Given the description of an element on the screen output the (x, y) to click on. 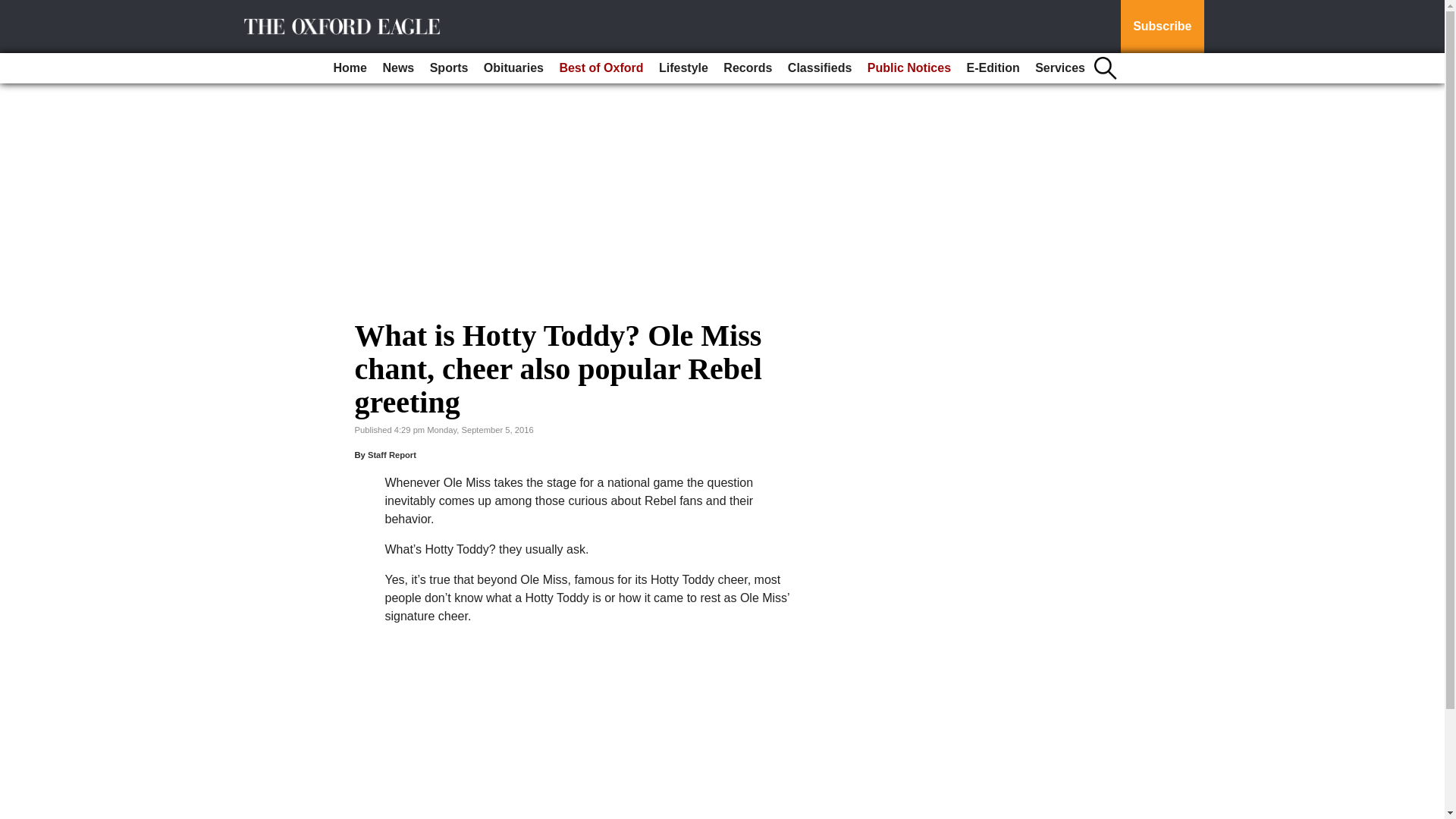
Go (13, 9)
Services (1059, 68)
Home (349, 68)
E-Edition (992, 68)
Best of Oxford (601, 68)
Classifieds (819, 68)
Obituaries (513, 68)
Sports (448, 68)
Public Notices (908, 68)
Records (747, 68)
